Given the description of an element on the screen output the (x, y) to click on. 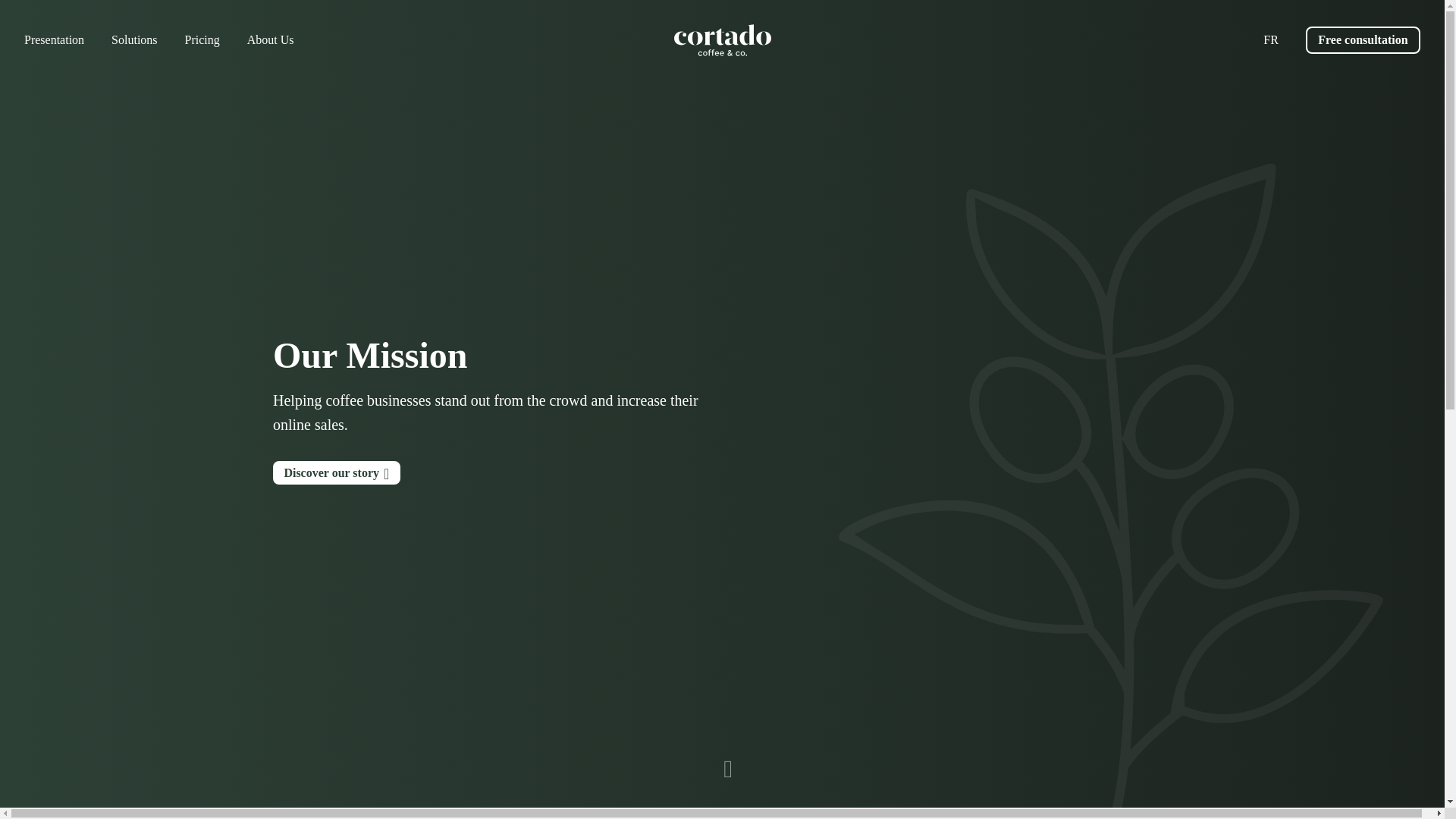
Pricing (201, 39)
Accueil (721, 40)
About Us (270, 39)
Solutions (134, 39)
Prices (201, 39)
Presentation (336, 473)
Presentation (54, 39)
Solutions (134, 39)
Discover our story (336, 473)
About Us (270, 39)
Presentation (54, 39)
